Given the description of an element on the screen output the (x, y) to click on. 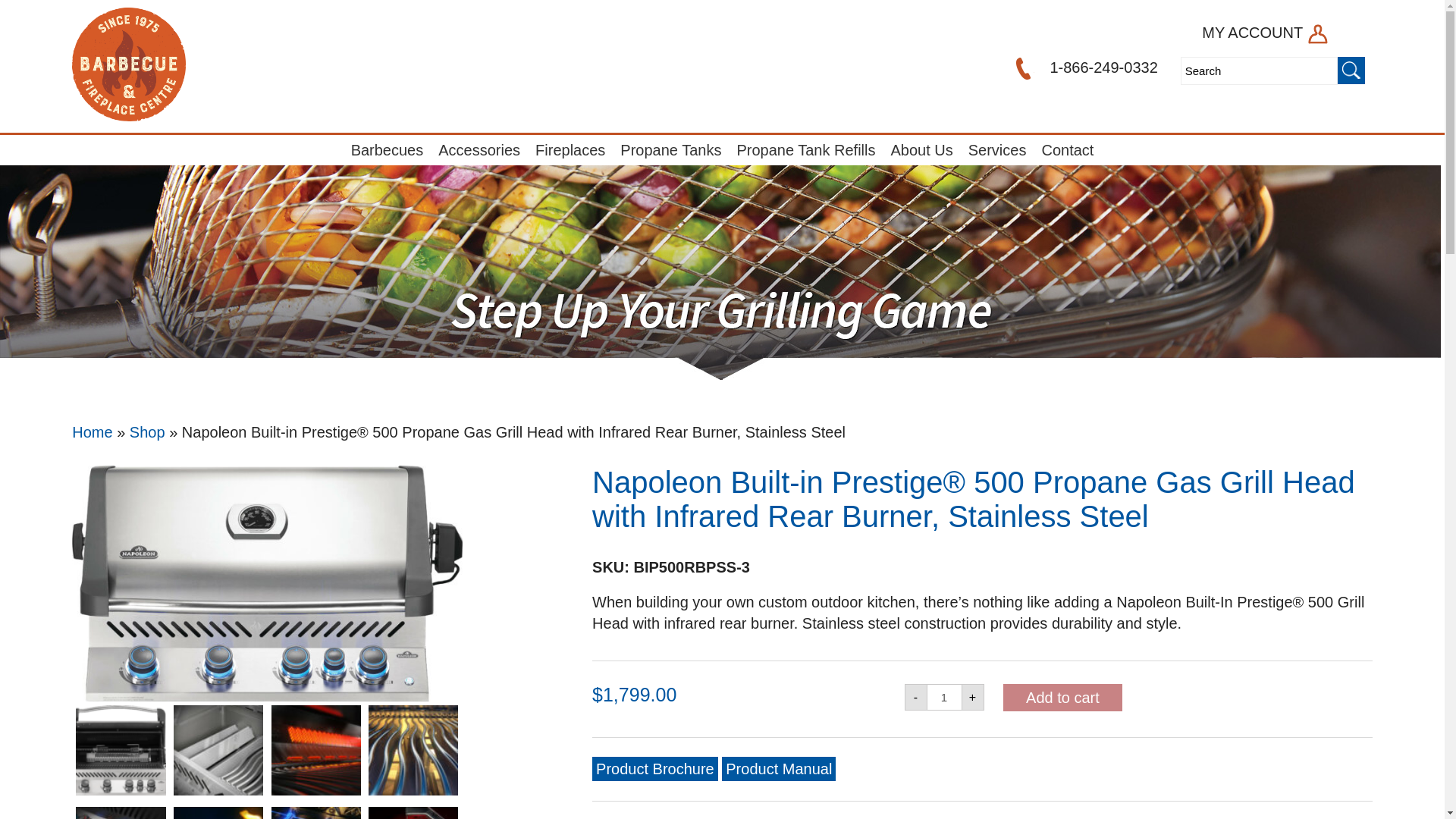
f5qiqedqozskxswos2cv.jpg (120, 812)
yij3vbcsrxb6q5ehjxid.png (120, 749)
Barbecues (386, 150)
qzqowy5vvnj4vr1gefcf.jpg (218, 749)
Accessories (478, 150)
Search (1259, 70)
gaftpful61z4rvnjyhgr.jpg (315, 749)
qr5ndrbieunyxcme9vqg.jpg (315, 812)
f67nrfz8c3vf3ng8ezp1.jpg (413, 749)
1-866-249-0332 (1083, 67)
d63b0prlnottw8vhmgvx.jpg (218, 812)
Search (1259, 70)
lzcygyxxlbw50cputjyo.jpg (266, 583)
1 (943, 696)
Qty (943, 696)
